Given the description of an element on the screen output the (x, y) to click on. 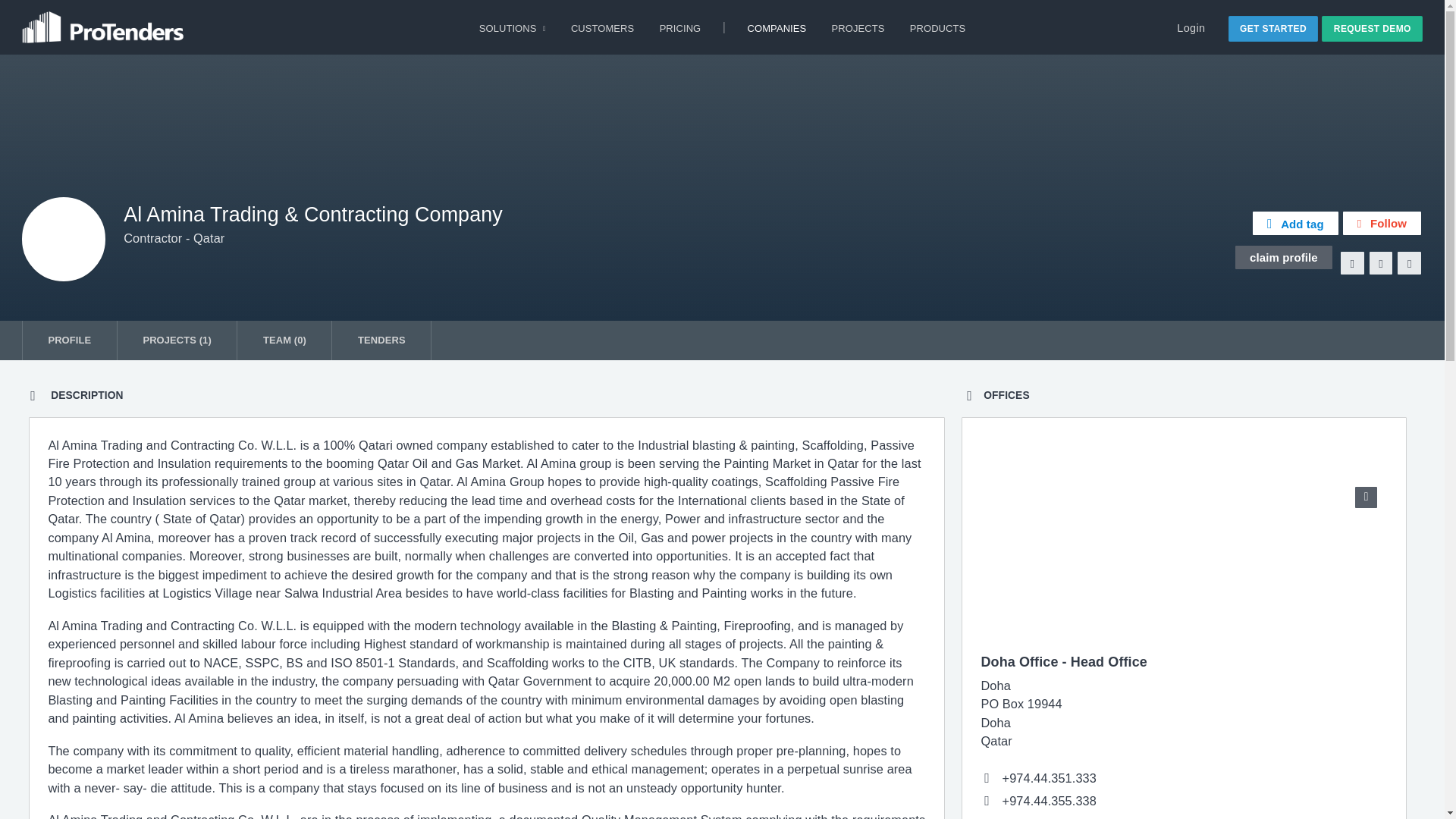
Login (1191, 27)
PROJECTS (858, 27)
PRODUCTS (936, 27)
CUSTOMERS (602, 27)
www.alamina.qa (1048, 818)
COMPANIES (776, 27)
Protenders (104, 21)
SOLUTIONS (511, 27)
Protenders (104, 26)
PRICING (679, 27)
PROFILE (68, 340)
Follow (1382, 223)
Add tag (1295, 223)
claim profile (1283, 257)
REQUEST DEMO (1372, 28)
